Given the description of an element on the screen output the (x, y) to click on. 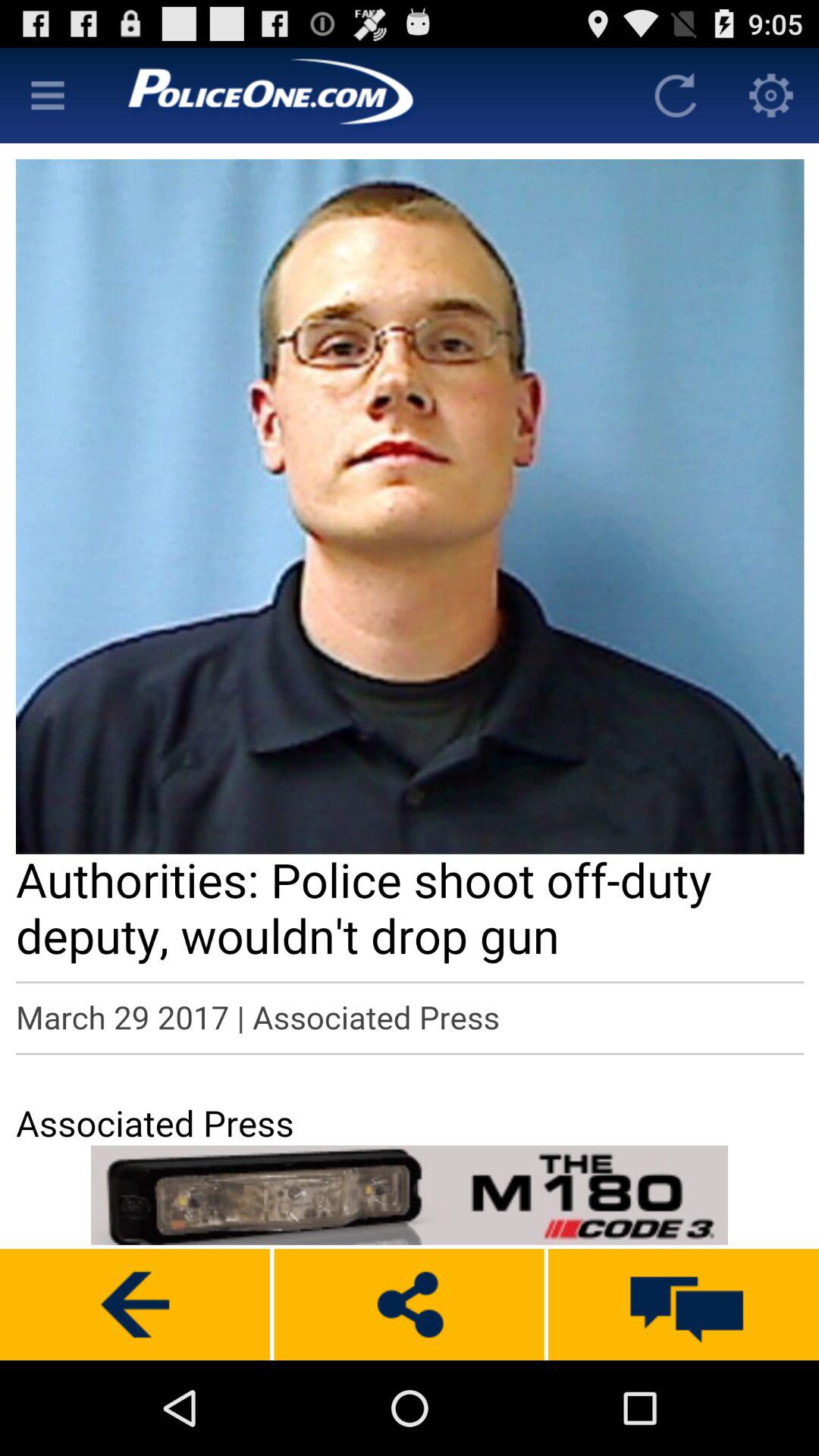
messages (683, 1304)
